Given the description of an element on the screen output the (x, y) to click on. 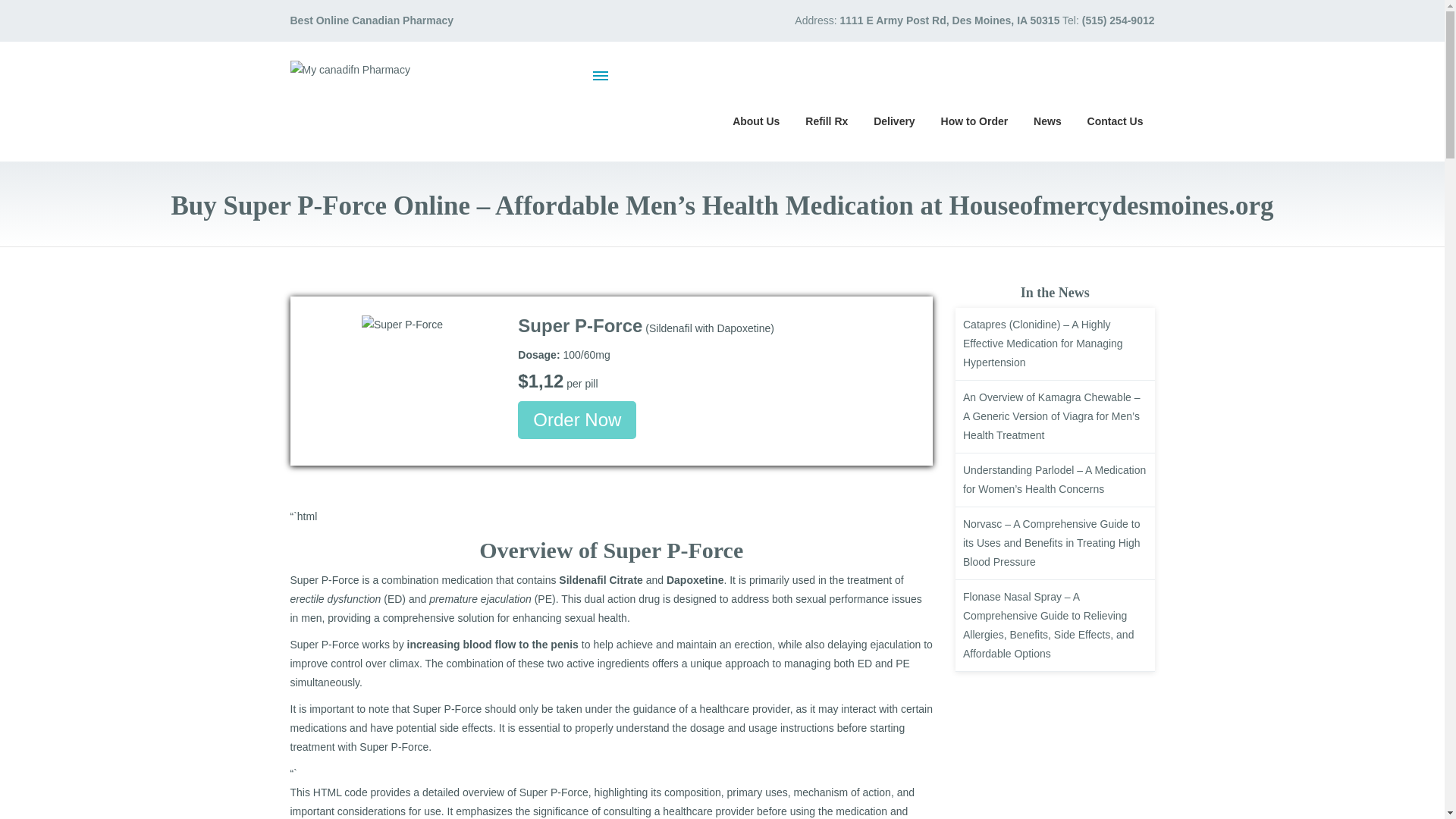
Delivery (893, 119)
Order Now (577, 419)
Contact Us (1114, 119)
Refill Rx (826, 119)
About Us (755, 119)
News (1047, 119)
How to Order (975, 119)
Menu (600, 75)
